Given the description of an element on the screen output the (x, y) to click on. 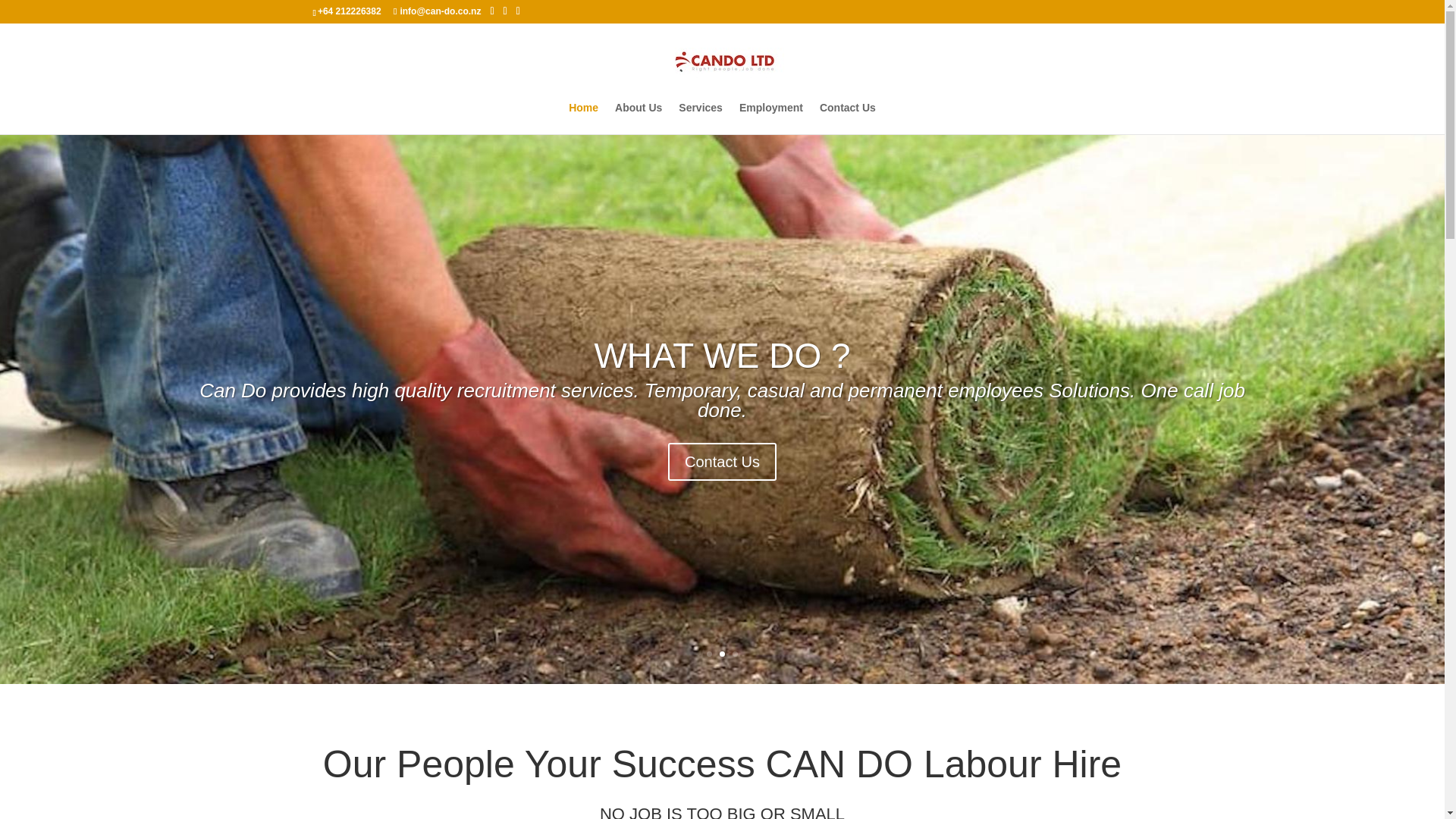
Services (700, 118)
3 (735, 653)
Employment (771, 118)
Contact Us (847, 118)
1 (708, 653)
Home (583, 118)
2 (722, 653)
About Us (638, 118)
